Given the description of an element on the screen output the (x, y) to click on. 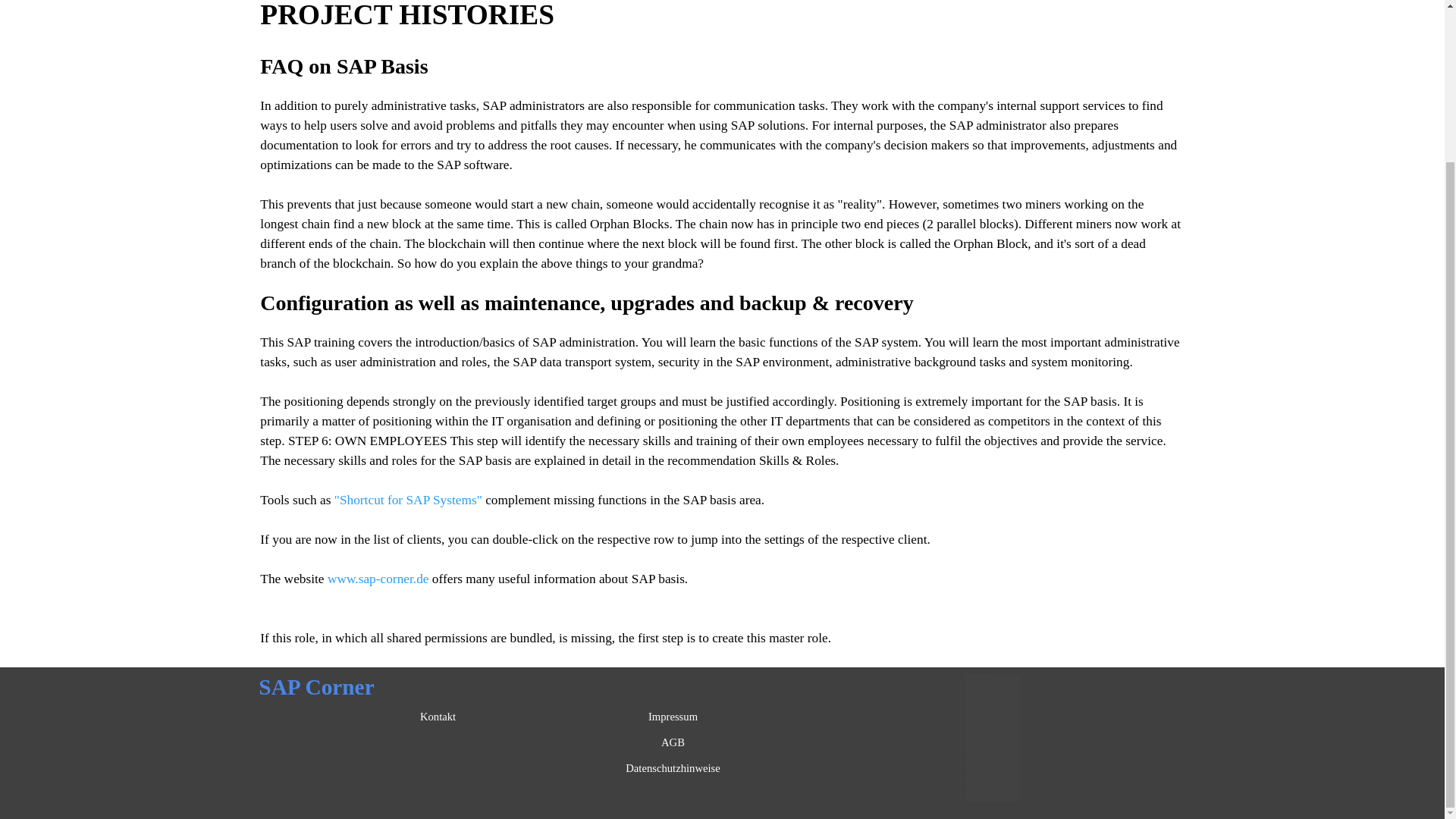
AGB (672, 742)
"Shortcut for SAP Systems" (407, 499)
Mirrors (984, 795)
Datenschutzhinweise (672, 767)
Impressum (672, 716)
Kontakt (438, 716)
www.sap-corner.de (378, 578)
